Given the description of an element on the screen output the (x, y) to click on. 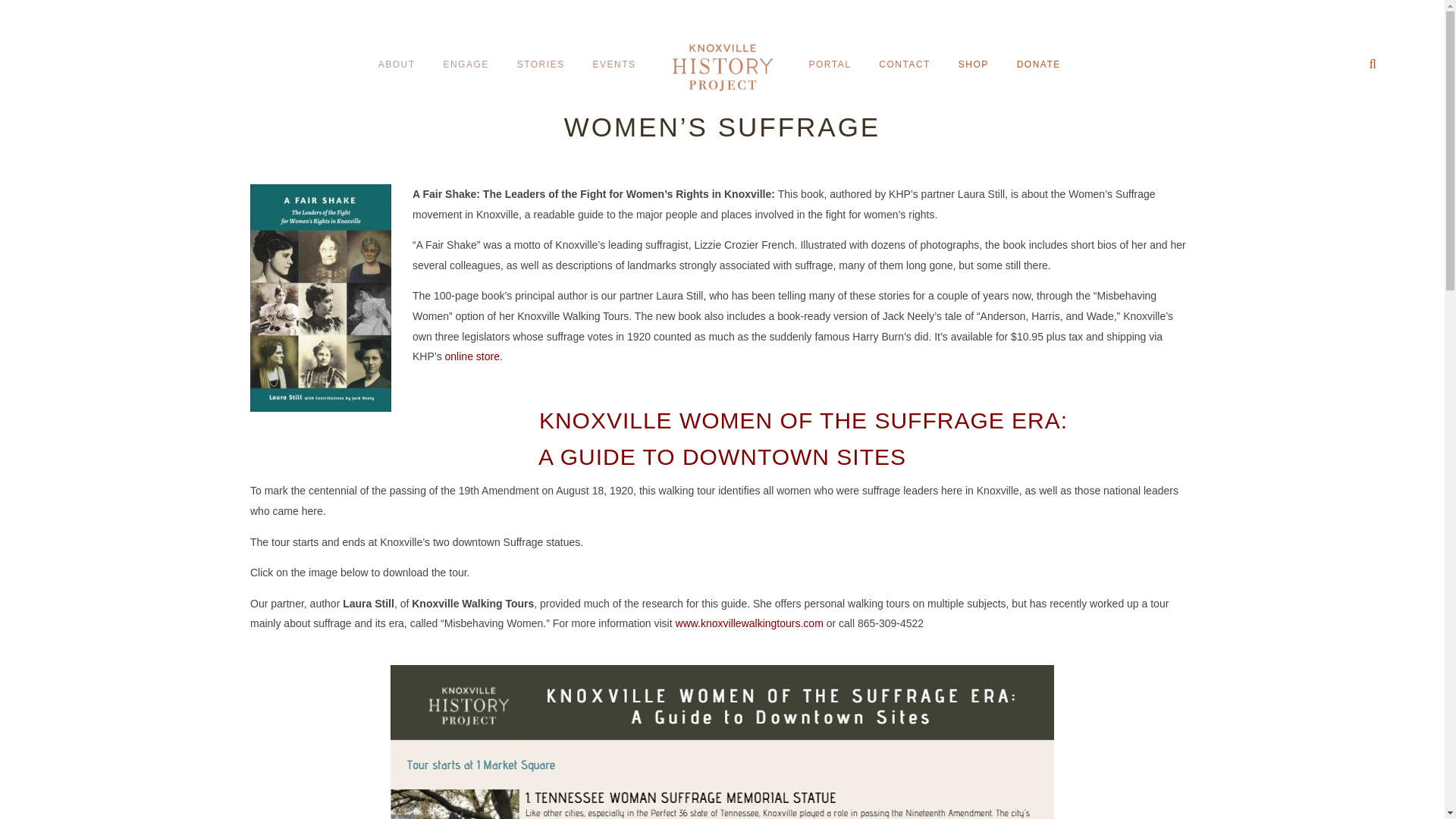
CONTACT (904, 64)
PORTAL (830, 64)
SHOP (973, 64)
DONATE (1038, 64)
online store (472, 356)
www.knoxvillewalkingtours.com (749, 623)
ENGAGE (464, 64)
STORIES (540, 64)
ABOUT (396, 64)
EVENTS (613, 64)
